Given the description of an element on the screen output the (x, y) to click on. 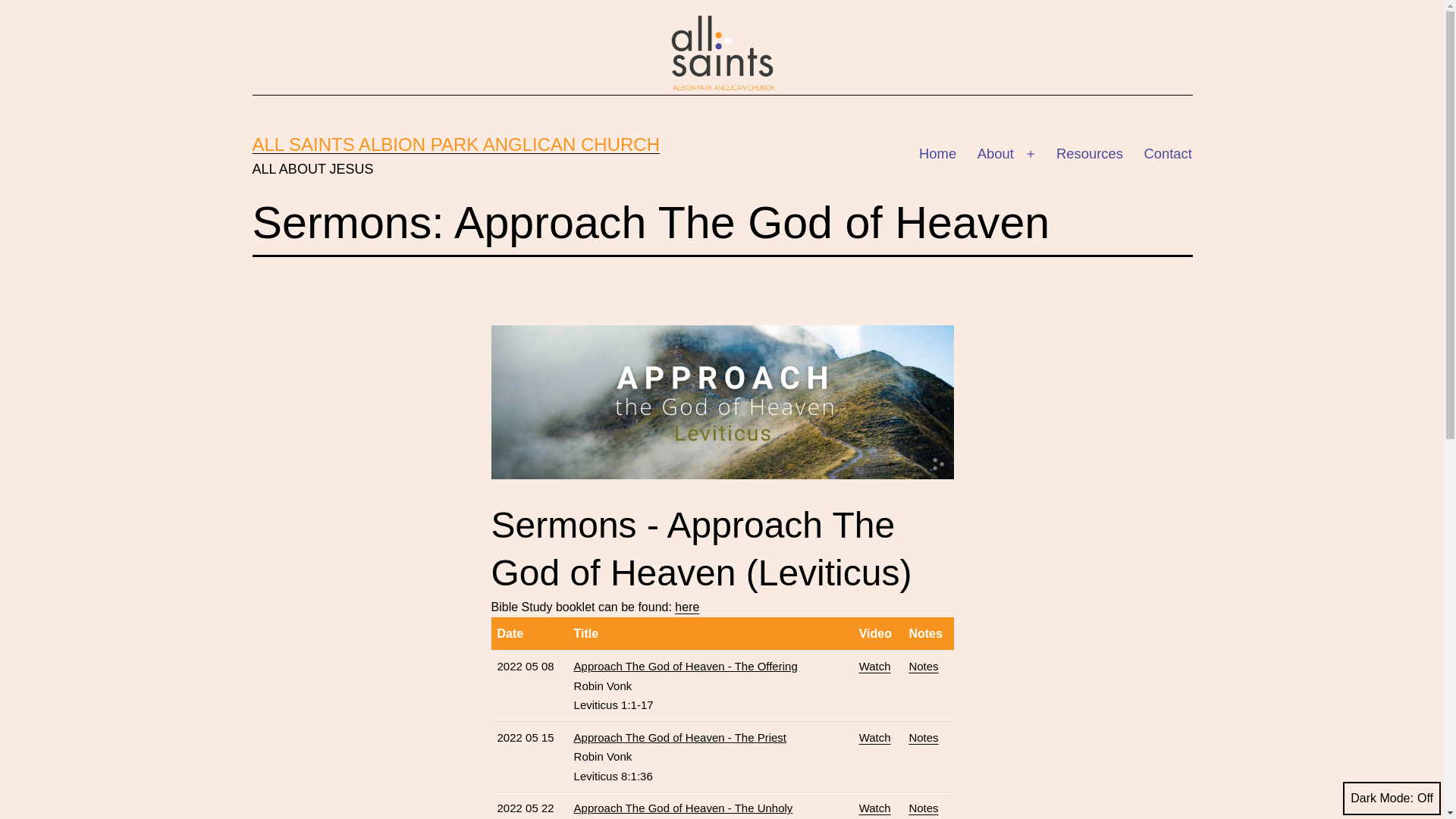
Contact Element type: text (1167, 153)
Watch Element type: text (875, 807)
Resources Element type: text (1089, 153)
Watch Element type: text (875, 737)
here Element type: text (686, 606)
Dark Mode: Element type: text (1391, 798)
Notes Element type: text (923, 737)
Notes Element type: text (923, 807)
ALL SAINTS ALBION PARK ANGLICAN CHURCH Element type: text (454, 144)
Home Element type: text (937, 153)
Open menu Element type: text (1031, 153)
About Element type: text (995, 153)
Notes Element type: text (923, 665)
Watch Element type: text (875, 665)
